Given the description of an element on the screen output the (x, y) to click on. 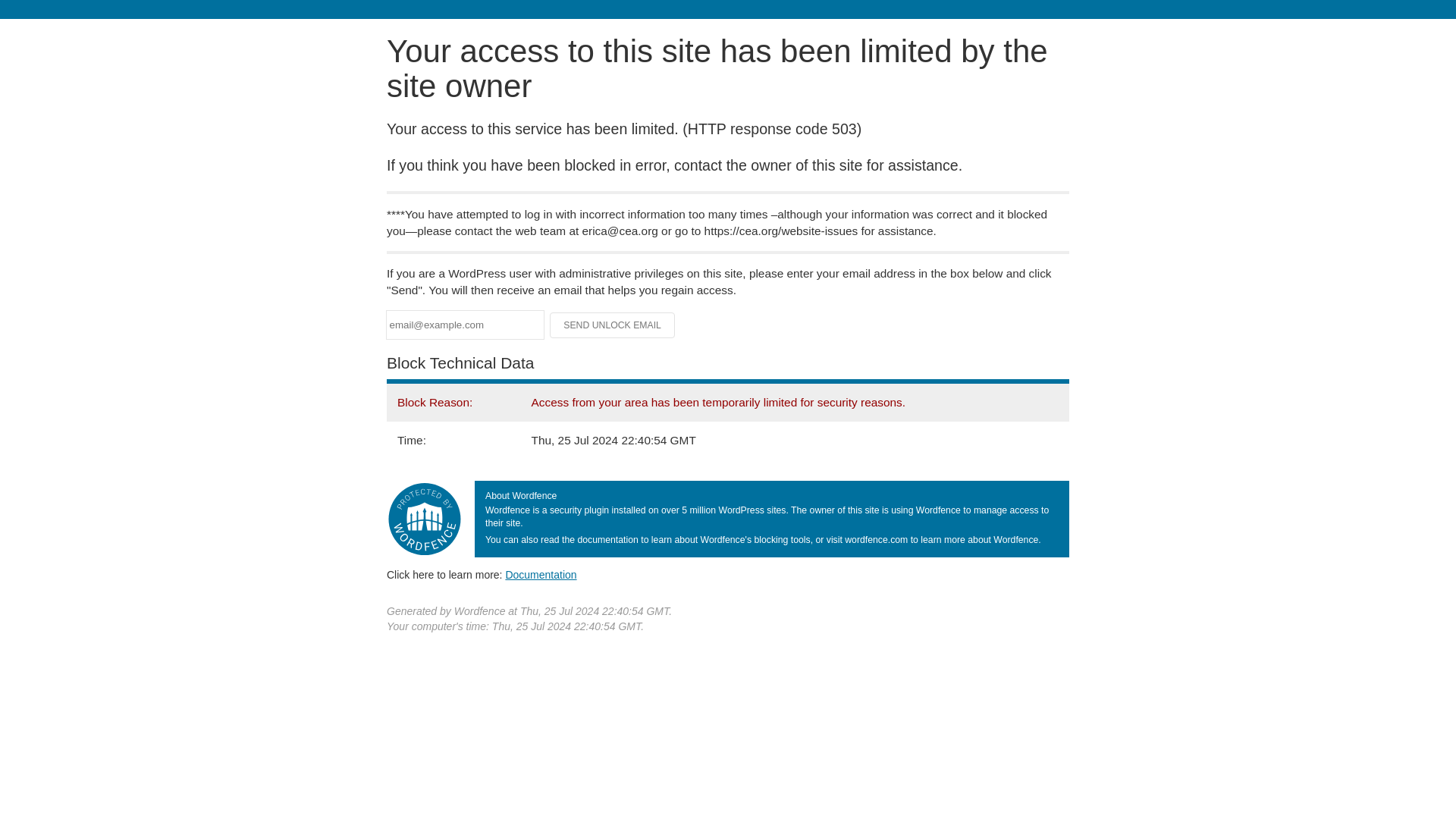
Send Unlock Email (612, 325)
Send Unlock Email (612, 325)
Documentation (540, 574)
